Given the description of an element on the screen output the (x, y) to click on. 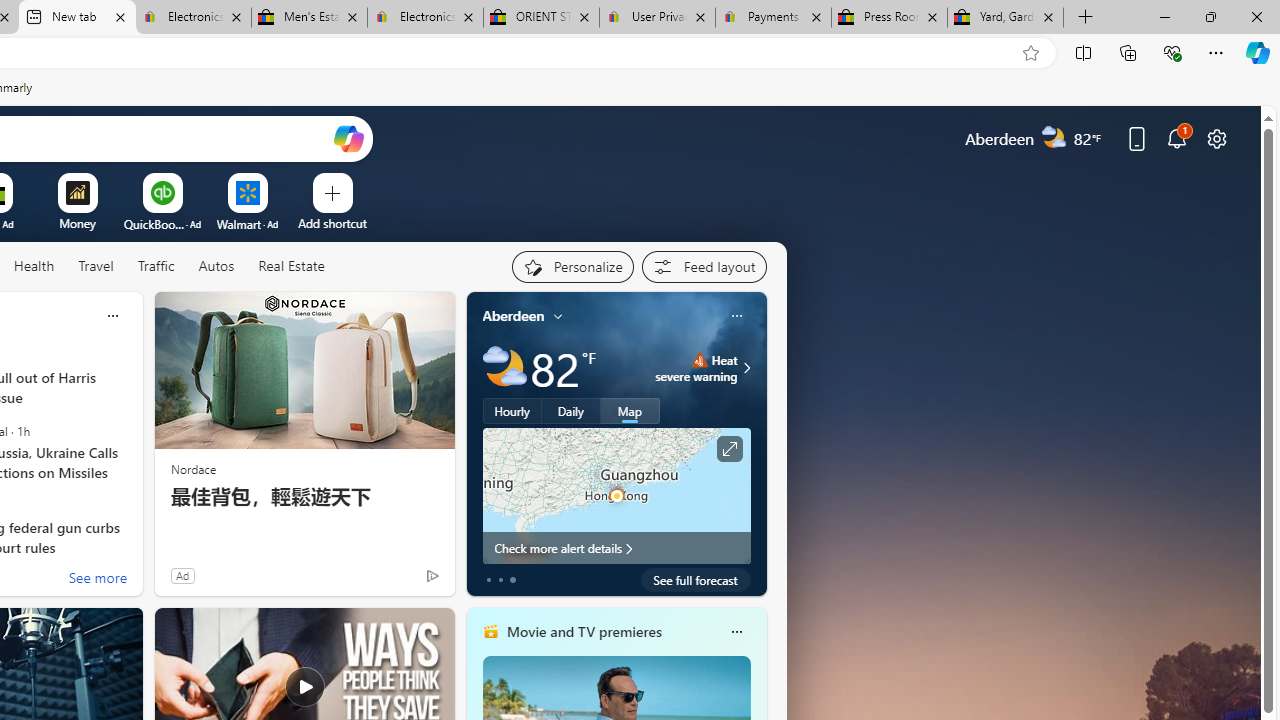
Health (33, 267)
Add a site (332, 223)
Partly cloudy (504, 368)
Larger map  (616, 495)
Health (34, 265)
Page settings (1216, 138)
Heat - Severe Heat severe warning (696, 367)
My location (558, 315)
Autos (216, 267)
Hourly (511, 411)
Check more alert details (616, 547)
